Given the description of an element on the screen output the (x, y) to click on. 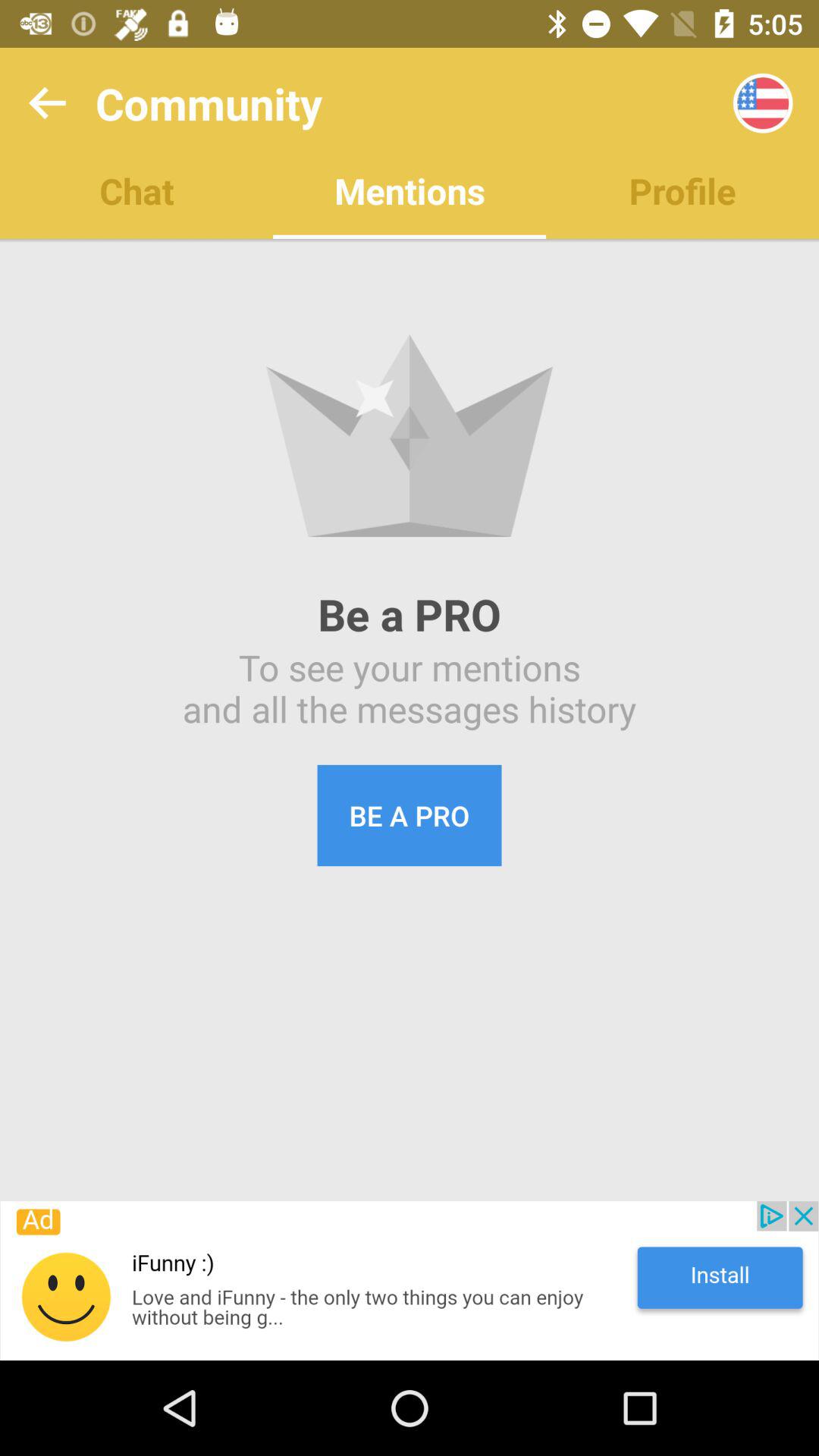
more information about an advertisement (409, 1280)
